Given the description of an element on the screen output the (x, y) to click on. 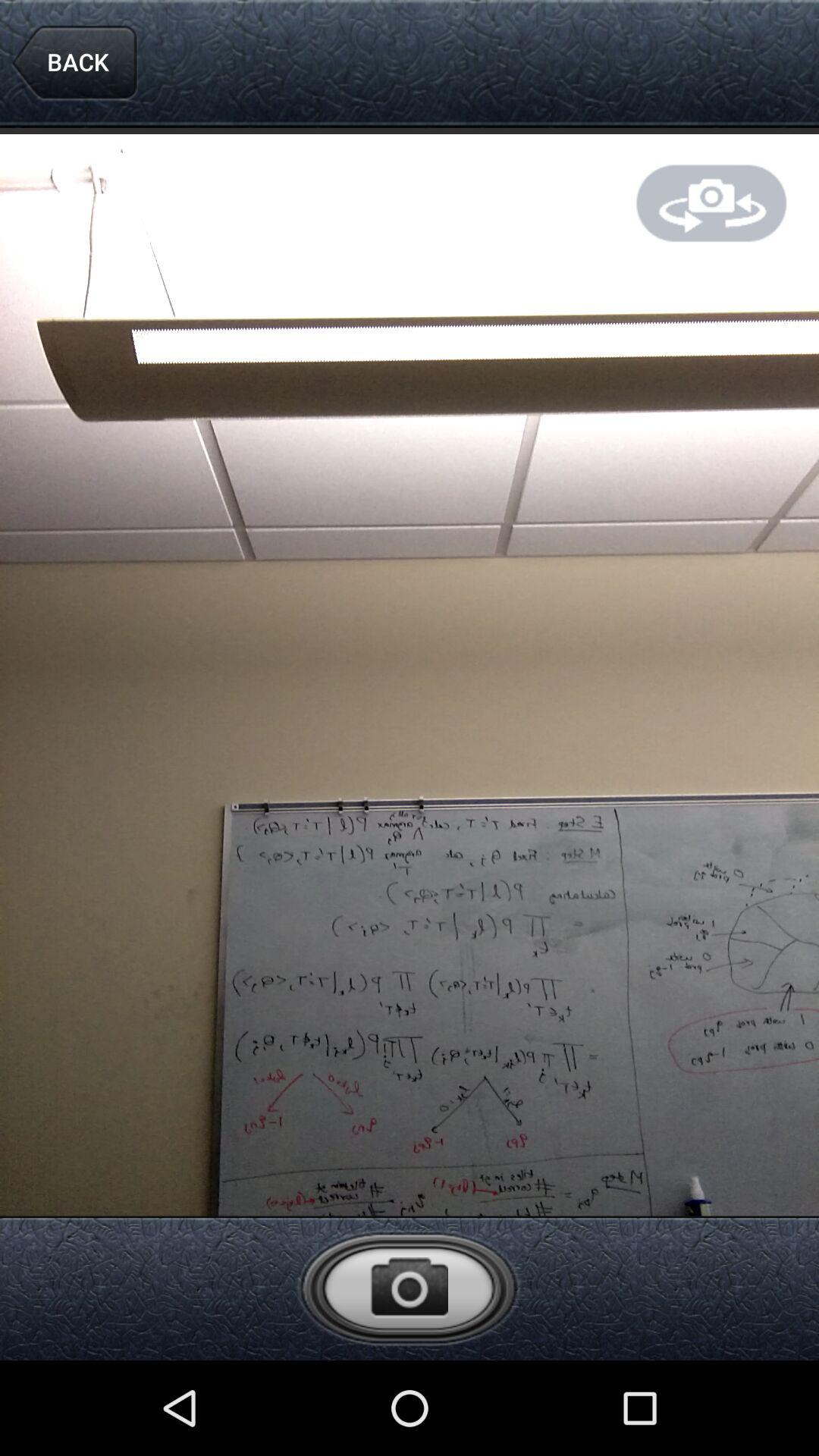
take picture (409, 1287)
